Given the description of an element on the screen output the (x, y) to click on. 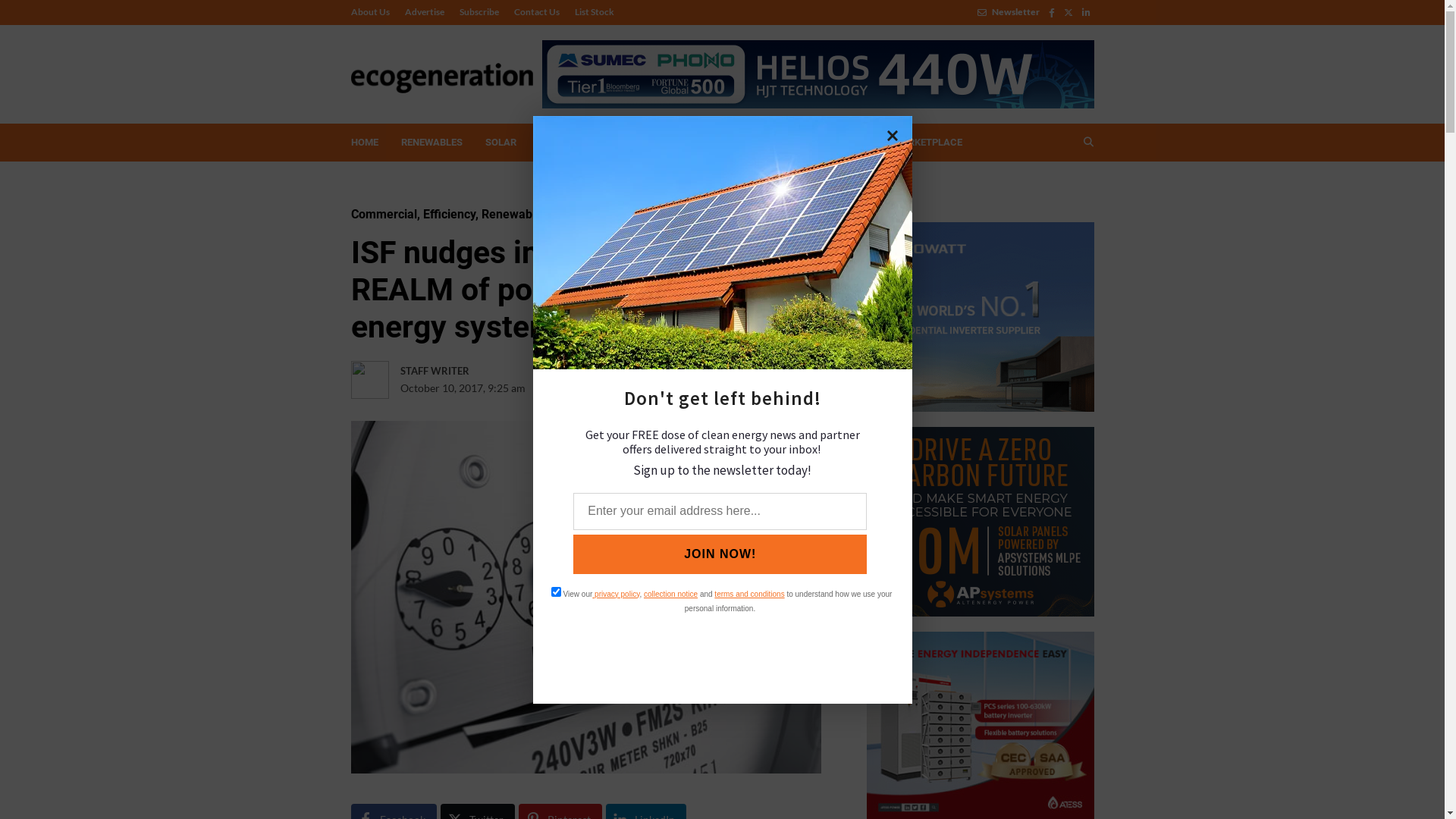
FOR CONSUMERS Element type: text (771, 142)
Share on Email Element type: hover (728, 387)
Solar Element type: text (567, 214)
Contact Us Element type: text (536, 11)
Share on Twitter Element type: hover (635, 387)
3rd party ad content Element type: hover (979, 316)
SOLAR Element type: text (500, 142)
MARKETPLACE Element type: text (926, 142)
RENEWABLES Element type: text (431, 142)
List Stock Element type: text (590, 11)
FUNDING Element type: text (687, 142)
Advertise Element type: text (424, 11)
3rd party ad content Element type: hover (979, 521)
Renewables Element type: text (513, 214)
Subscribe Element type: text (478, 11)
EVENTS Element type: text (851, 142)
Close Element type: hover (892, 135)
Newsletter Element type: text (1007, 11)
STAFF WRITER Element type: text (465, 370)
Efficiency Element type: text (449, 214)
PROJECTS Element type: text (563, 142)
Share on Copy Link Element type: hover (759, 387)
Share on Print Element type: hover (697, 387)
newsletter signups Element type: hover (722, 579)
HOME Element type: text (364, 142)
Share on LinkedIn Element type: hover (666, 387)
About Us Element type: text (373, 11)
POLICY Element type: text (627, 142)
Share on Facebook Element type: hover (604, 387)
Solar Element type: text (602, 214)
Storage Element type: text (643, 214)
Commercial Element type: text (383, 214)
3rd party ad content Element type: hover (817, 74)
